Given the description of an element on the screen output the (x, y) to click on. 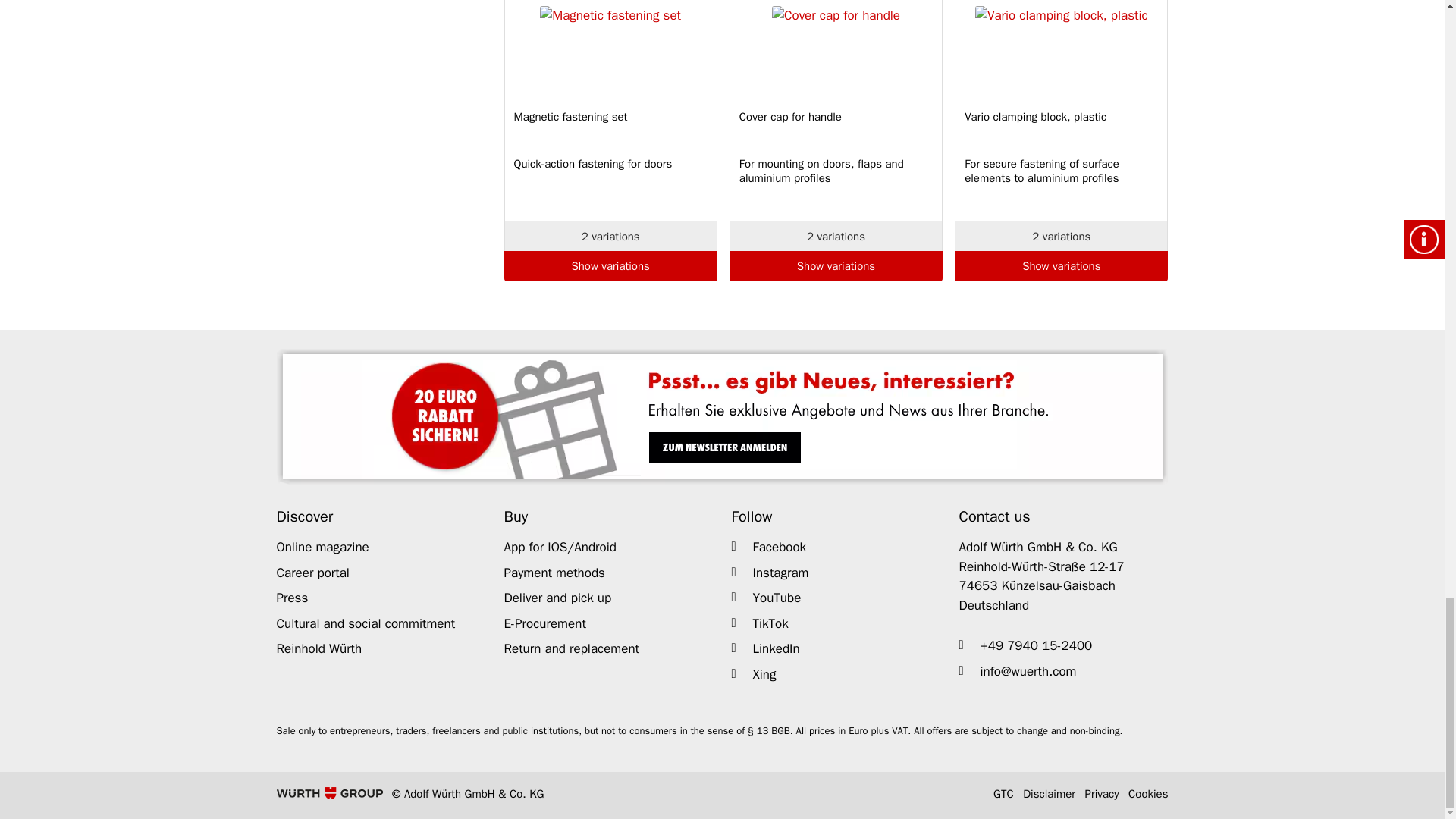
E-Procurement (544, 622)
Press (291, 597)
Deliver and pick up (557, 597)
Facebook (768, 546)
Newsletterbanner (721, 416)
Online magazine (322, 546)
Payment methods (553, 572)
Cultural and social commitment (365, 622)
Career portal (312, 572)
Return and replacement (571, 648)
